Given the description of an element on the screen output the (x, y) to click on. 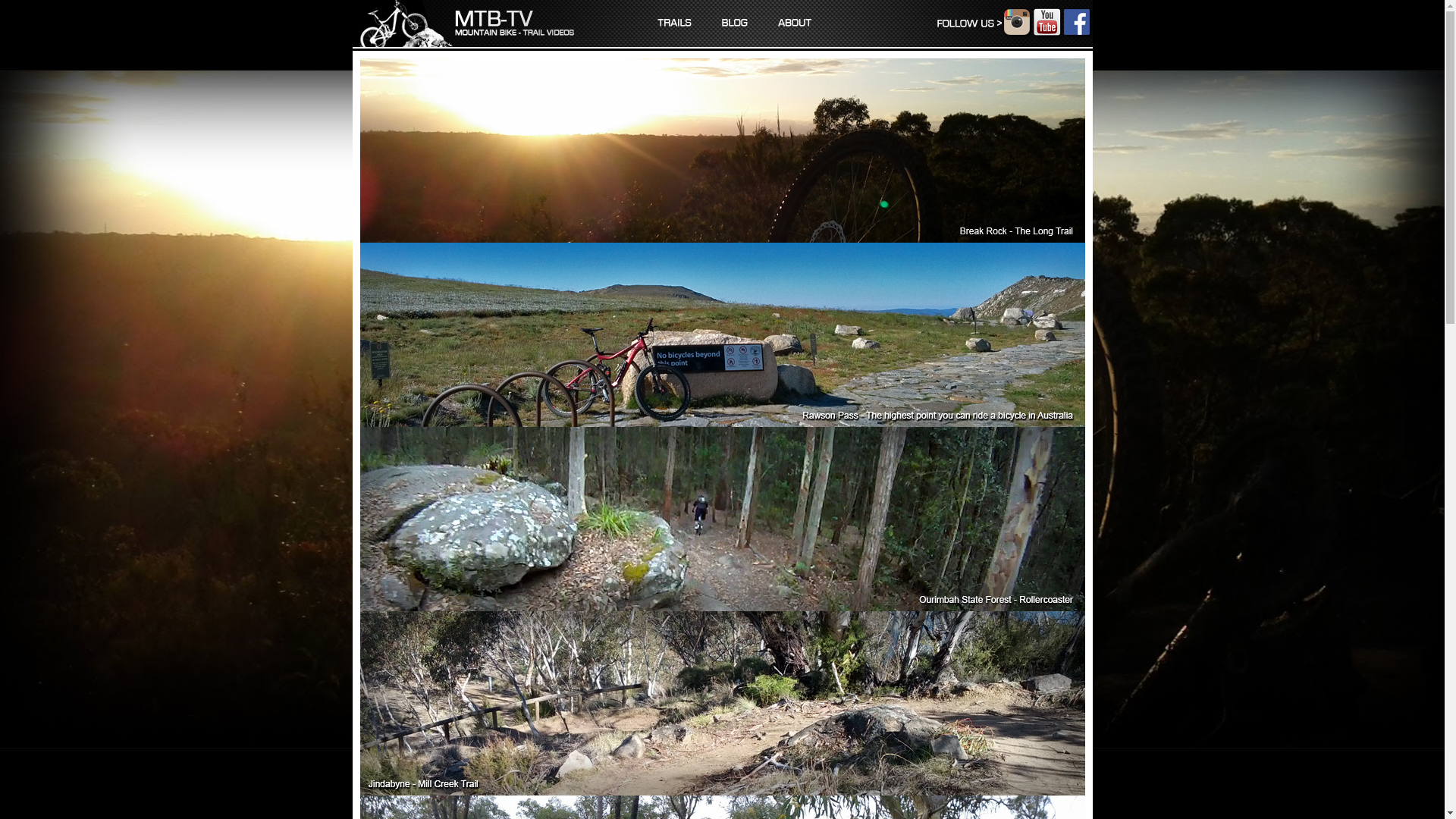
Bruce Ridge (Canberra) Element type: text (476, 308)
Hinze Dam (Gold Coast) Element type: text (476, 485)
Home Element type: hover (465, 23)
Hassans Walls (Lithgow) Element type: text (476, 466)
Golden Jubilee Field MTB Park (North Shore, Sydney) Element type: text (476, 446)
Bungarra Alpine Centre (Snowy Mountains) Element type: text (476, 328)
Silver Mountain (Kellogg) Element type: text (476, 801)
Red Hill (Northern Beaches, Sydney) Element type: text (476, 761)
Mt Kosciuszko (Snowy Mountains) Element type: text (476, 623)
Bantry Bay (Northern Beaches, Sydney) Element type: text (476, 288)
Oxford Falls (Northern Beaches, Sydney) Element type: text (476, 722)
Currumbin Border Track (NSW/QLD Border) Element type: text (476, 347)
East Kowen (Kowen Pine Forest, Canberra) Element type: text (476, 387)
Majura Pines (Majura, Canberra) Element type: text (476, 564)
Daisy Hill (South Brisbane) Element type: text (476, 367)
Kiwarrak State Forest (Tarree) Element type: text (476, 544)
Fred Caterson Reserve (Castle Hill) Element type: text (476, 426)
Pilot Wilderness (Snowy Mountains) Element type: text (476, 742)
Jindabyne (Snowy Mountains) Element type: text (476, 525)
Mt Joyce (Gold Coast Hinterland) Element type: text (476, 604)
Forest Pipeline (Northern Beaches, Sydney) Element type: text (476, 406)
Tweets by @MTB_TrailVideos Element type: text (967, 714)
Ourimbah (Central Coast) Element type: text (476, 702)
Newnes (Lithgow) Element type: text (476, 663)
Old Man's Valley (Hornsby, Sydney) Element type: text (476, 682)
Manly Dam (Northern Beaches, Sydney) Element type: text (476, 584)
Nerang State Forest (Gold Coast) Element type: text (476, 643)
Rotorua Redwoods (New Zealand) Element type: text (476, 781)
Jackson (Jackson) Element type: text (476, 505)
